Given the description of an element on the screen output the (x, y) to click on. 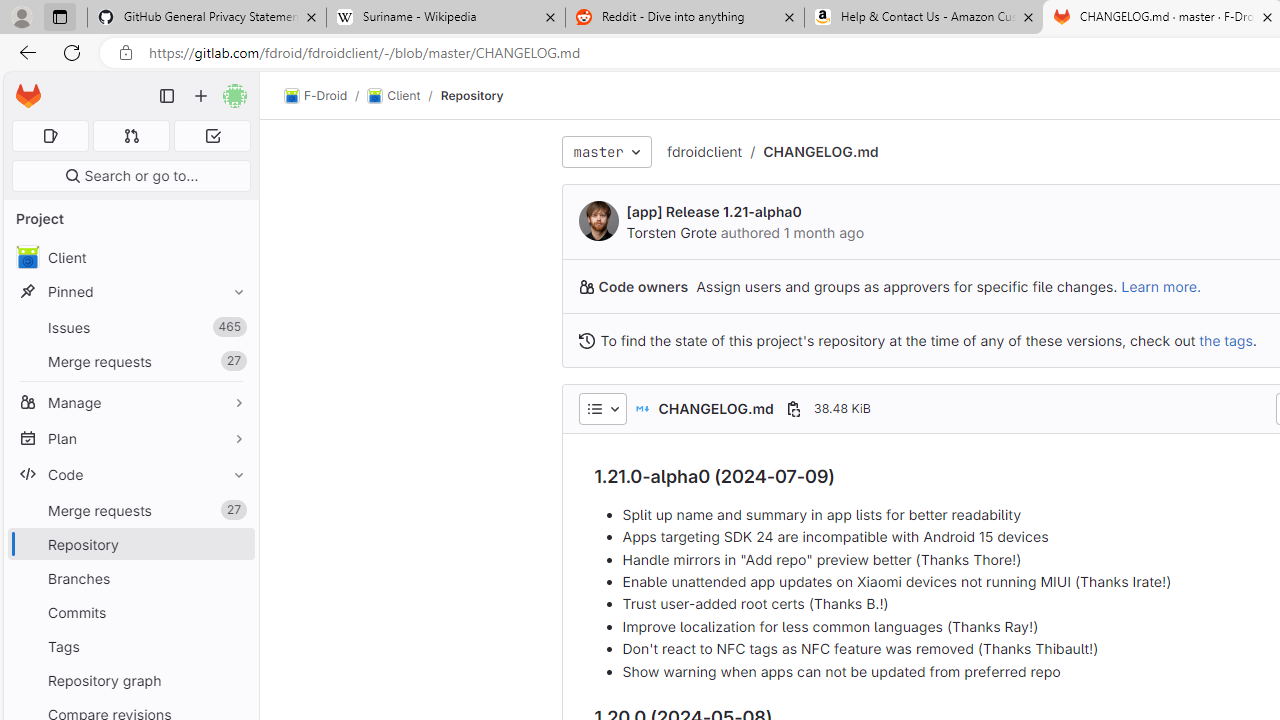
Pin Tags (234, 646)
Torsten Grote's avatar (598, 220)
Client (130, 257)
Create new... (201, 96)
[app] Release 1.21-alpha0 (713, 211)
F-Droid (316, 96)
Assigned issues 0 (50, 136)
Repository graph (130, 679)
Tags (130, 646)
Plan (130, 438)
Client/ (404, 96)
Commits (130, 612)
